Given the description of an element on the screen output the (x, y) to click on. 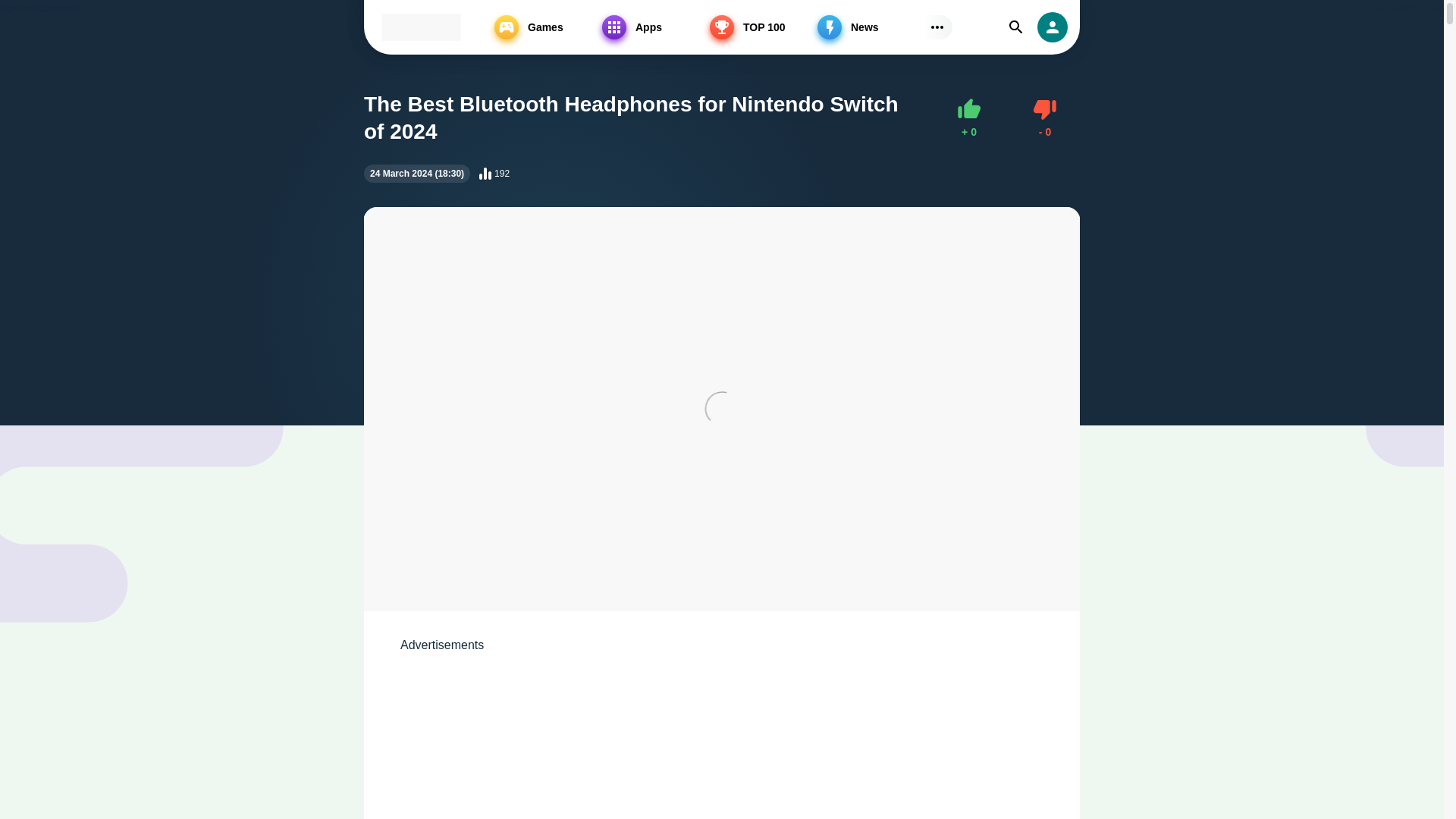
androdz.com (421, 27)
3rd party ad content (1045, 118)
Authorization (721, 737)
Find (1051, 27)
Dislike (1015, 27)
TOP 100 (1045, 118)
Like (759, 27)
News (969, 118)
The Best Bluetooth Headphones for Nintendo Switch of 2024 1 (426, 36)
